Given the description of an element on the screen output the (x, y) to click on. 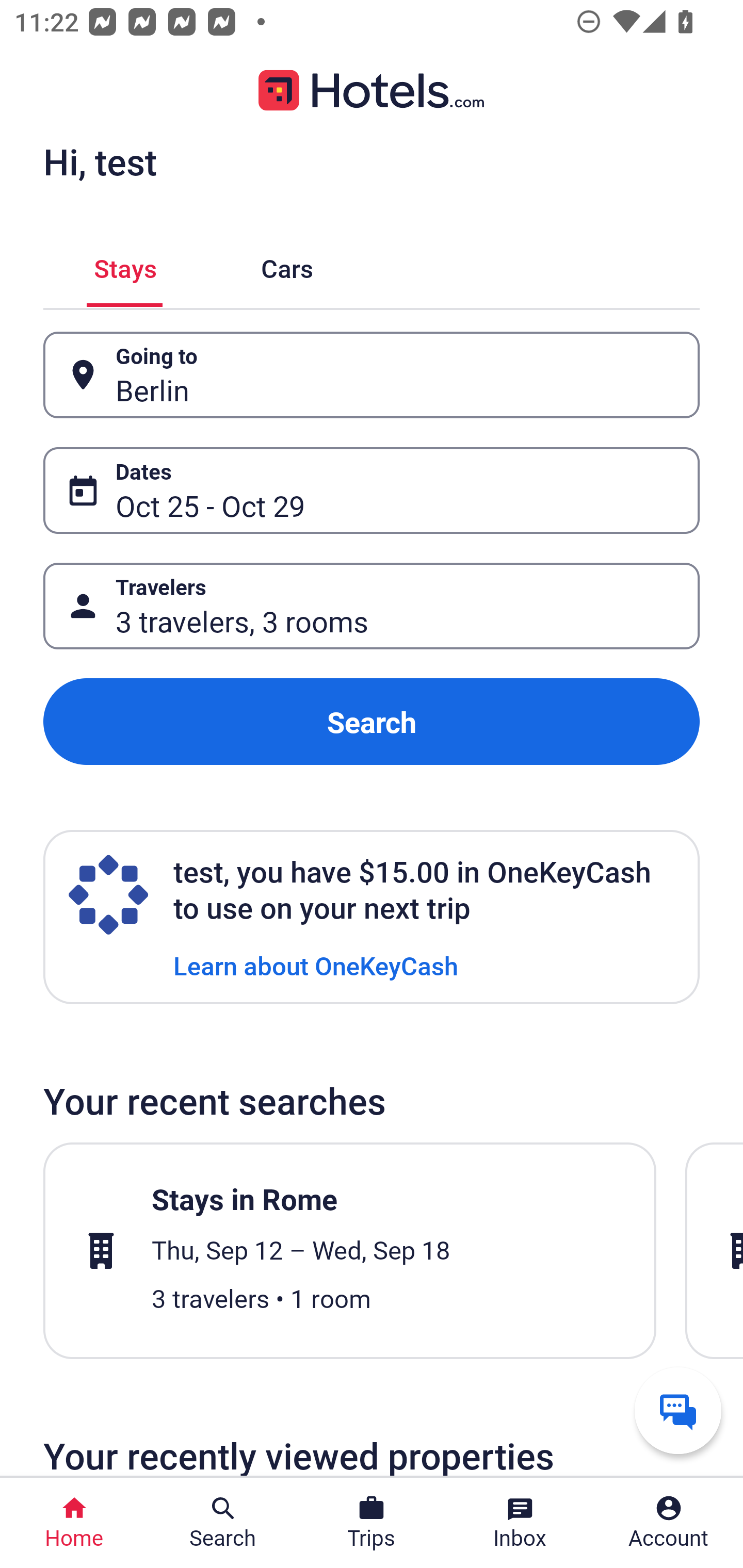
Hi, test (99, 161)
Cars (286, 265)
Going to Button Berlin (371, 375)
Dates Button Oct 25 - Oct 29 (371, 489)
Travelers Button 3 travelers, 3 rooms (371, 605)
Search (371, 721)
Learn about OneKeyCash Learn about OneKeyCash Link (315, 964)
Get help from a virtual agent (677, 1410)
Search Search Button (222, 1522)
Trips Trips Button (371, 1522)
Inbox Inbox Button (519, 1522)
Account Profile. Button (668, 1522)
